Given the description of an element on the screen output the (x, y) to click on. 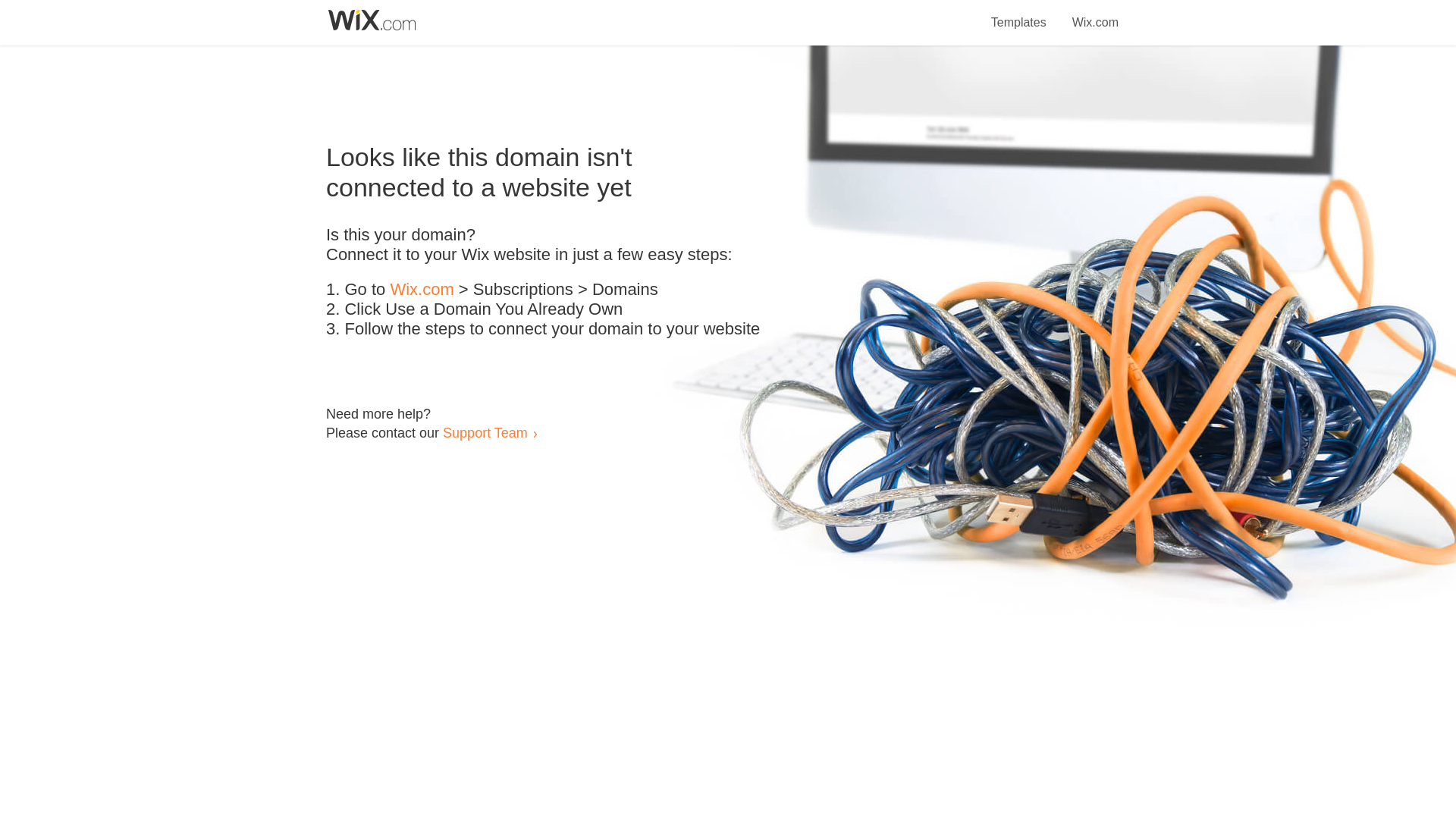
Wix.com (421, 289)
Templates (1018, 14)
Wix.com (1095, 14)
Support Team (484, 432)
